Given the description of an element on the screen output the (x, y) to click on. 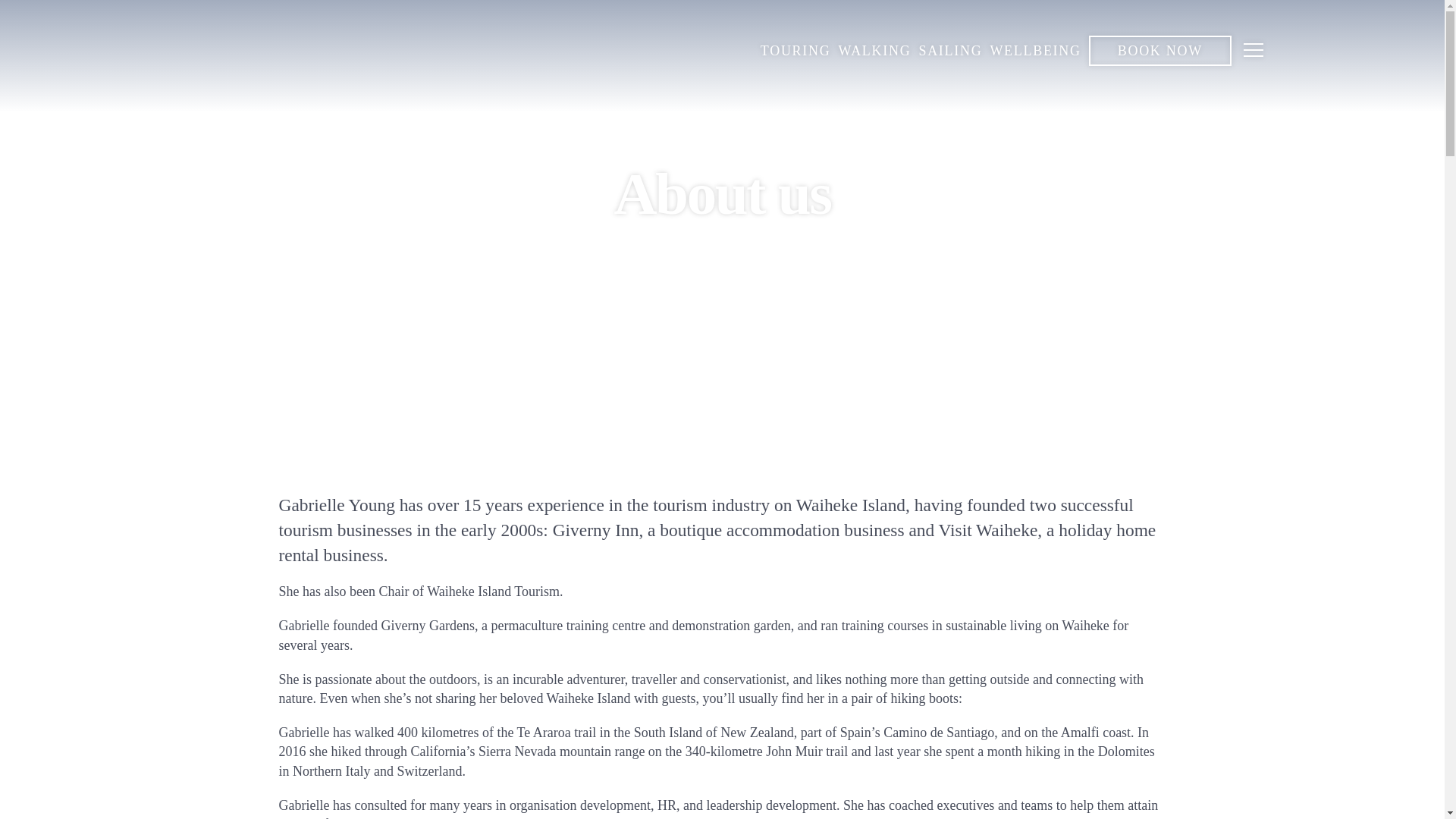
BOOK NOW (1160, 51)
MENU (1253, 51)
SAILING (949, 52)
TOURING (795, 52)
WELLBEING (1035, 52)
WALKING (874, 52)
